Given the description of an element on the screen output the (x, y) to click on. 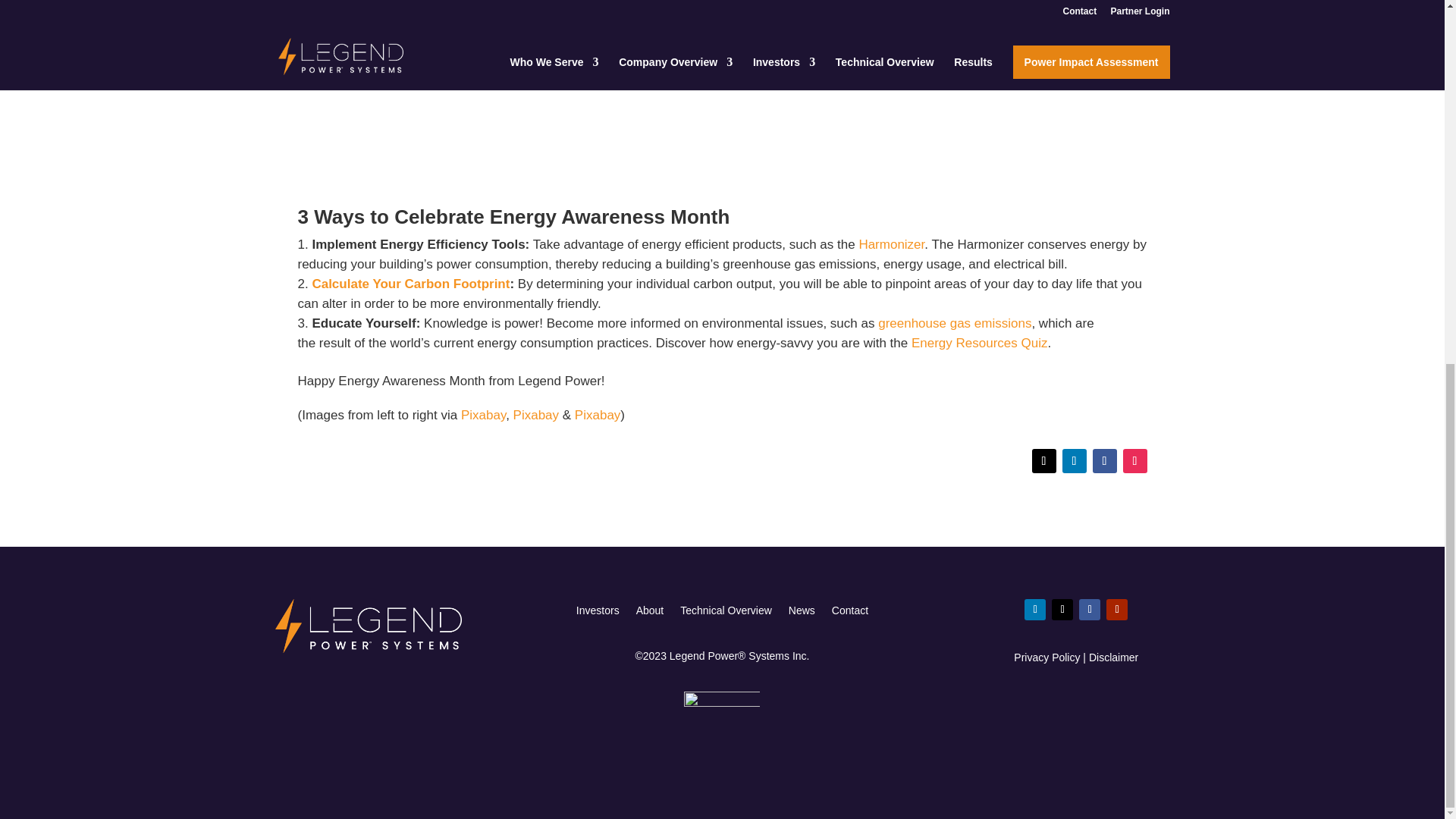
Follow on LinkedIn (1073, 460)
Harmonizer (891, 244)
Follow on X (1062, 608)
Follow on Facebook (1104, 460)
Follow on Youtube (1116, 608)
Follow on Facebook (1089, 608)
Pixabay (536, 414)
Pixabay (483, 414)
Follow on X (1042, 460)
Calculate Your Carbon Footprint (410, 283)
